Given the description of an element on the screen output the (x, y) to click on. 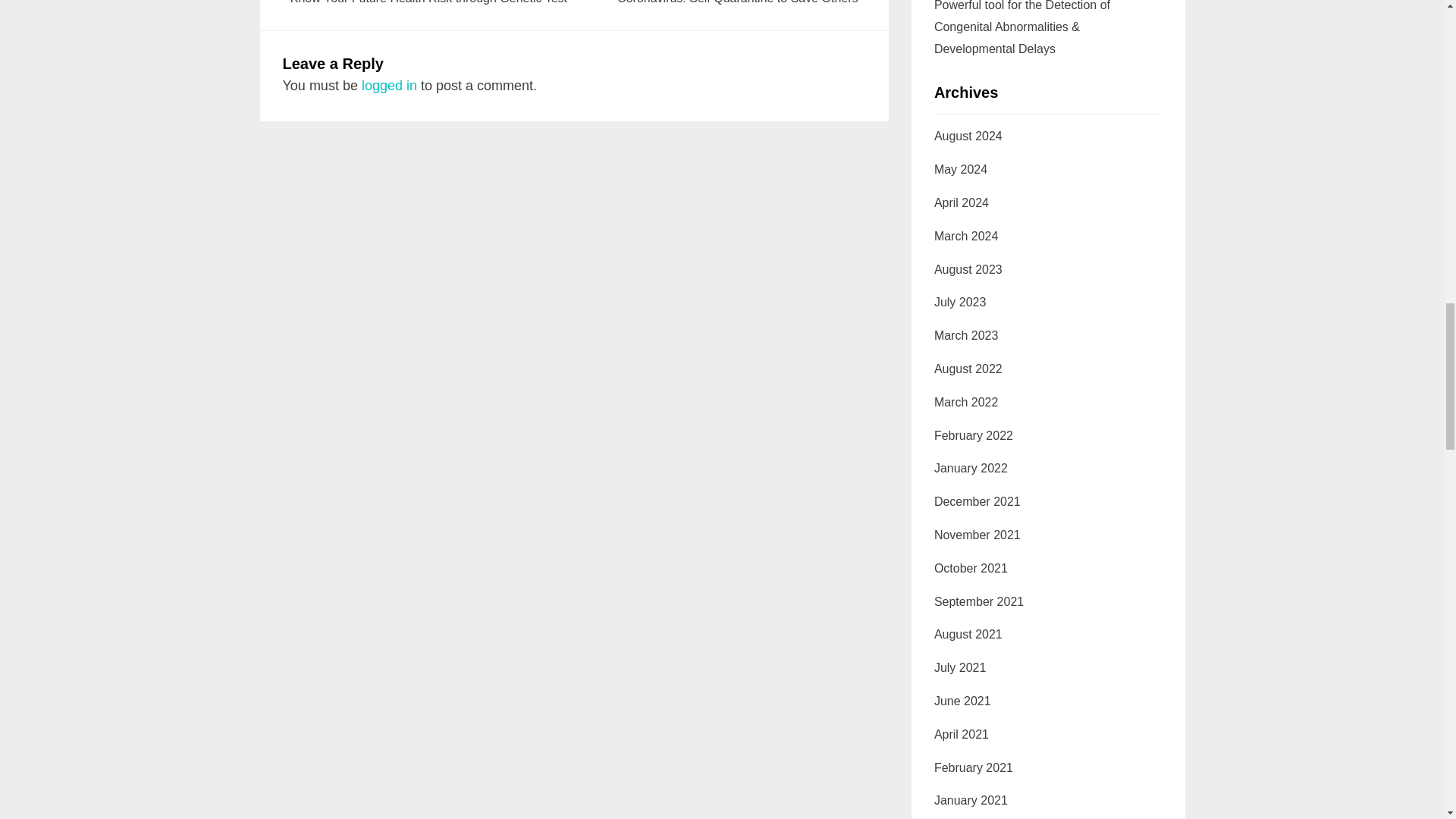
logged in (388, 85)
